Given the description of an element on the screen output the (x, y) to click on. 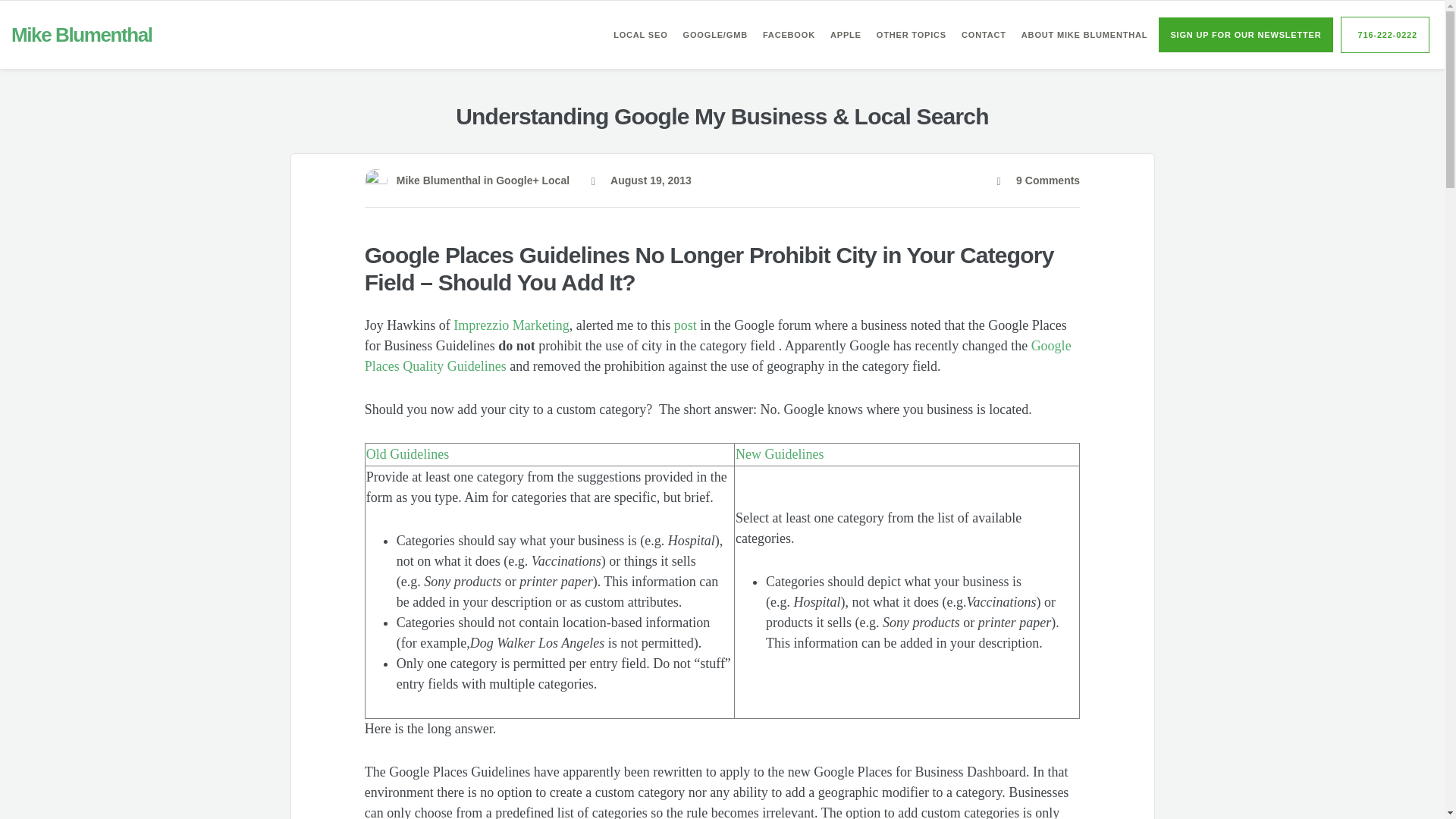
SIGN UP FOR OUR NEWSLETTER (1245, 35)
Mike Blumenthal (81, 34)
ABOUT MIKE BLUMENTHAL (1084, 34)
  9 Comments (1037, 180)
LOCAL SEO (640, 34)
  August 19, 2013 (641, 180)
Imprezzio Marketing (510, 324)
OTHER TOPICS (911, 34)
716-222-0222 (1384, 35)
FACEBOOK (788, 34)
